Given the description of an element on the screen output the (x, y) to click on. 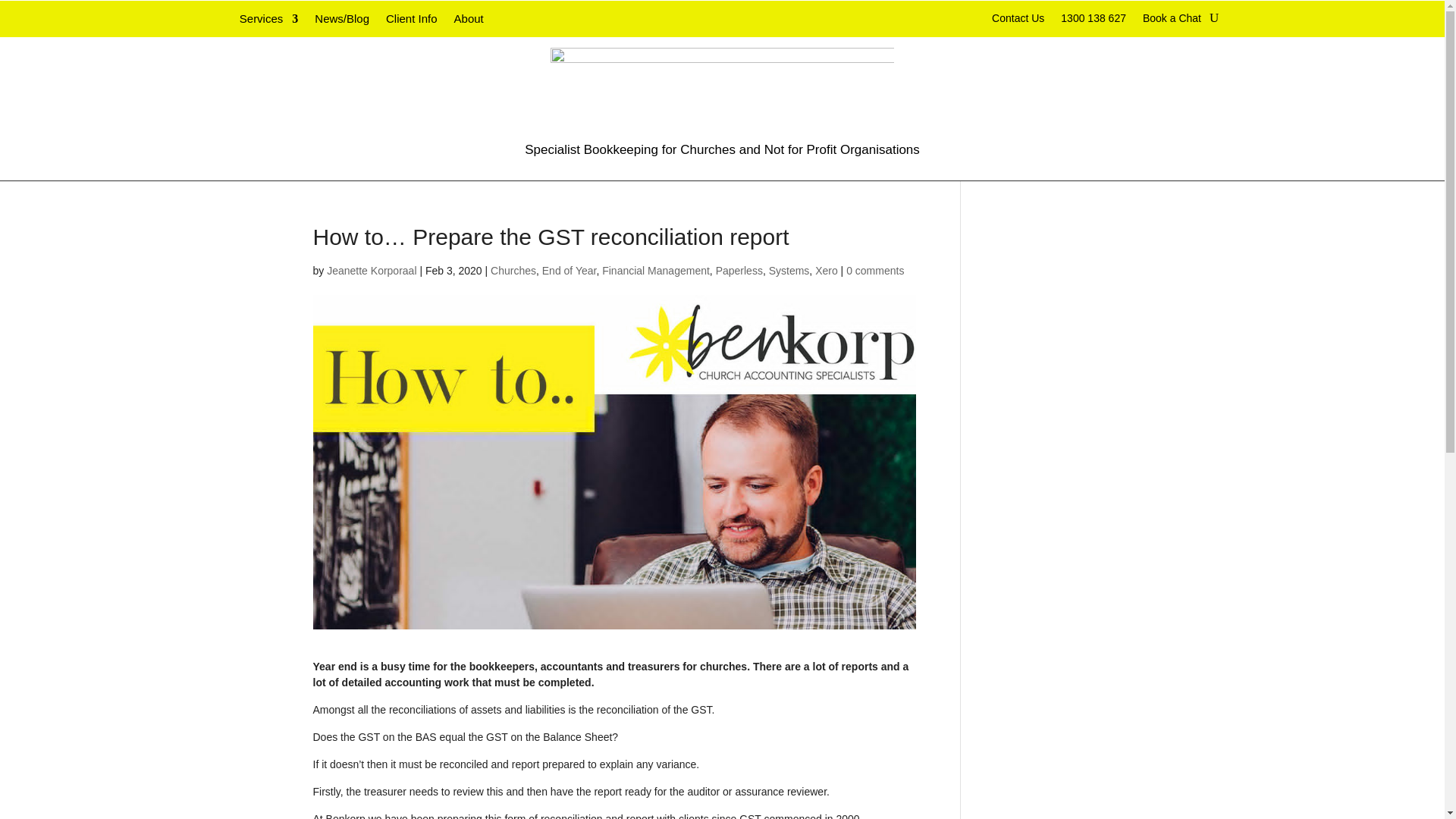
Systems (788, 270)
Book a Chat (1171, 21)
Client Info (411, 21)
Churches (512, 270)
Posts by Jeanette Korporaal (371, 270)
1300 138 627 (1093, 21)
Contact Us (1017, 21)
Financial Management (656, 270)
Paperless (739, 270)
Xero (826, 270)
